Given the description of an element on the screen output the (x, y) to click on. 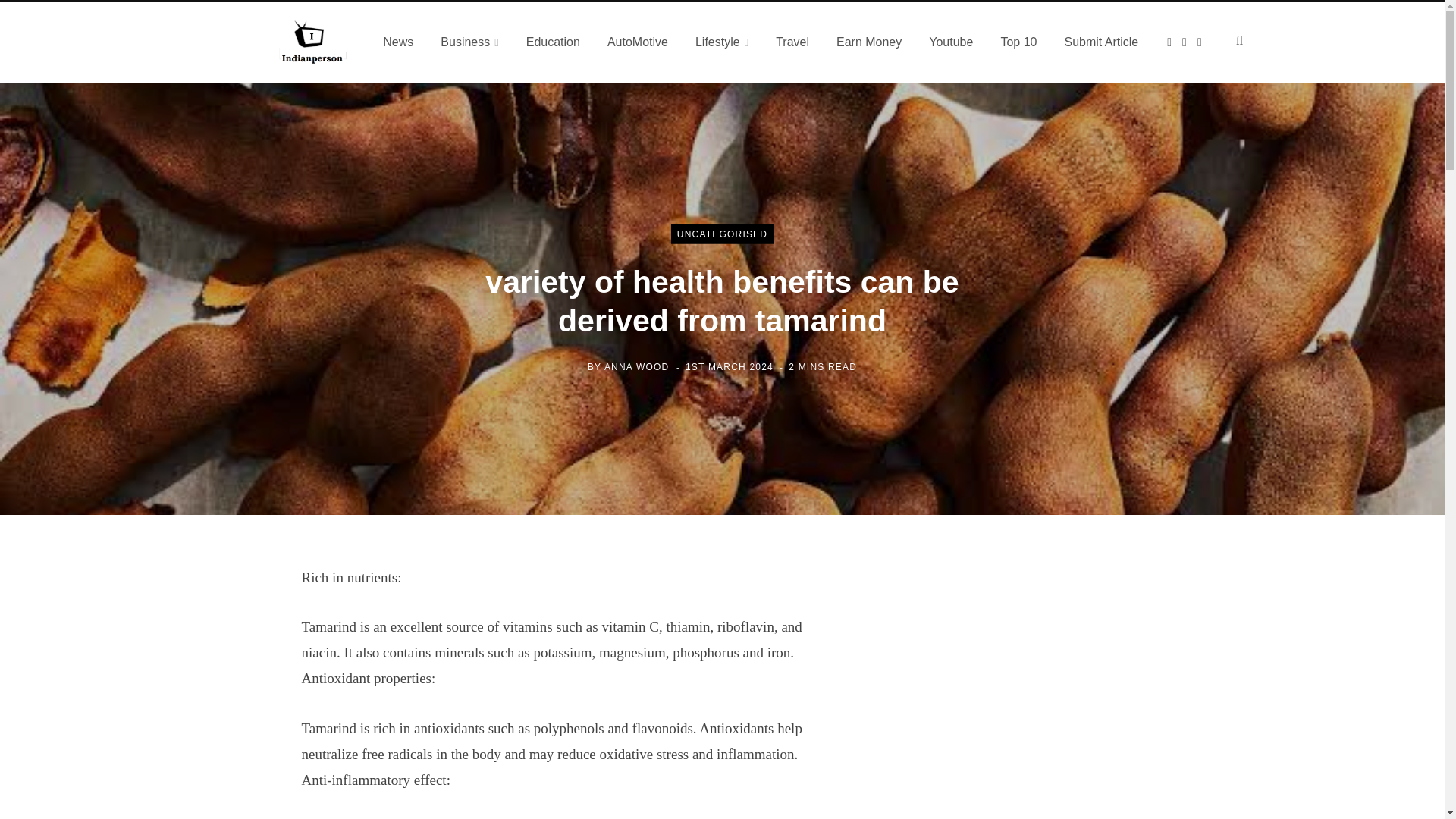
Earn Money (868, 41)
ANNA WOOD (636, 366)
Lifestyle (721, 41)
Submit Article (1100, 41)
Top 10 (1018, 41)
AutoMotive (637, 41)
Search (1230, 41)
Travel (791, 41)
Youtube (951, 41)
Business (469, 41)
